Given the description of an element on the screen output the (x, y) to click on. 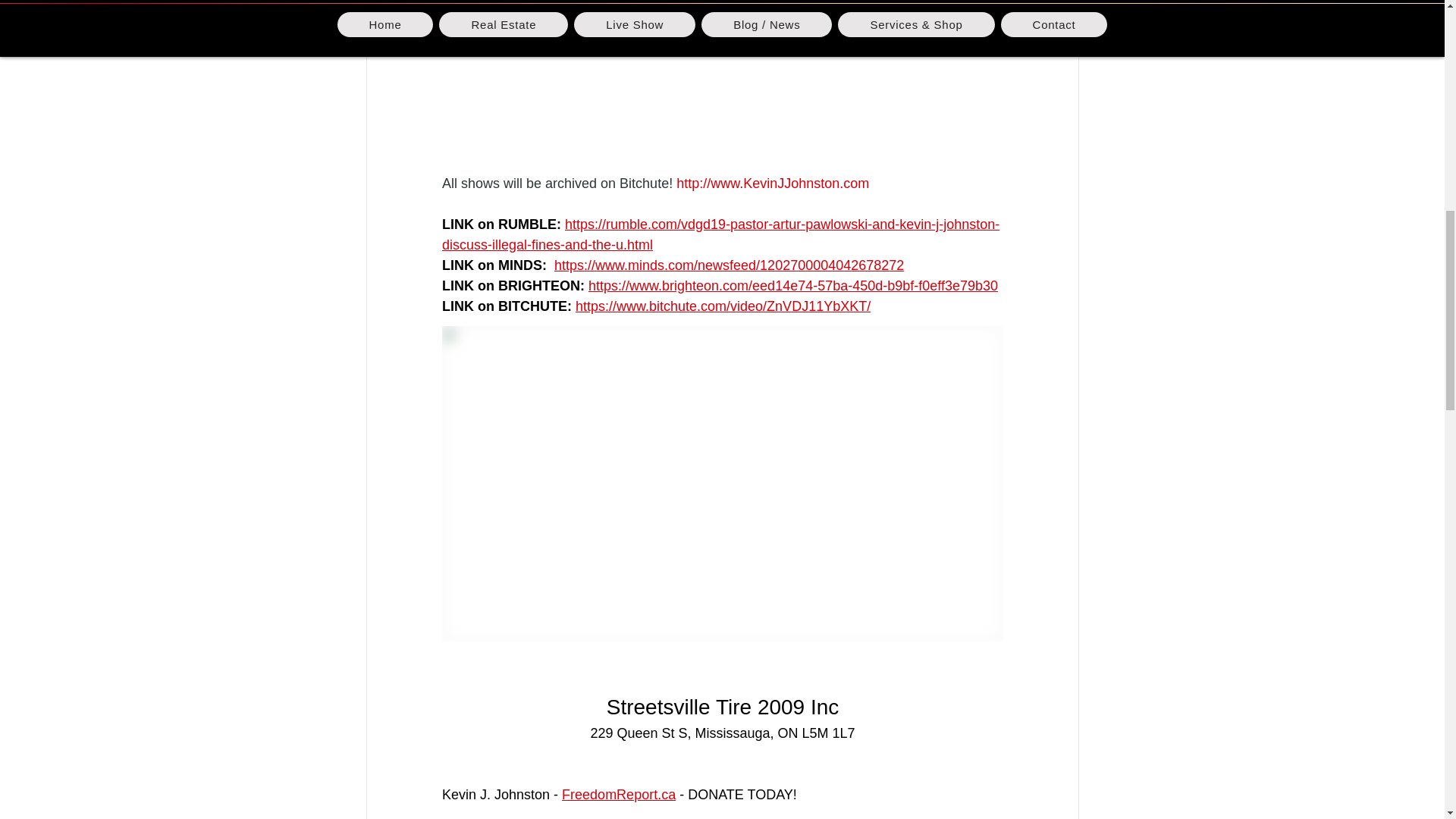
remote content (722, 85)
FreedomReport.ca (618, 794)
